Given the description of an element on the screen output the (x, y) to click on. 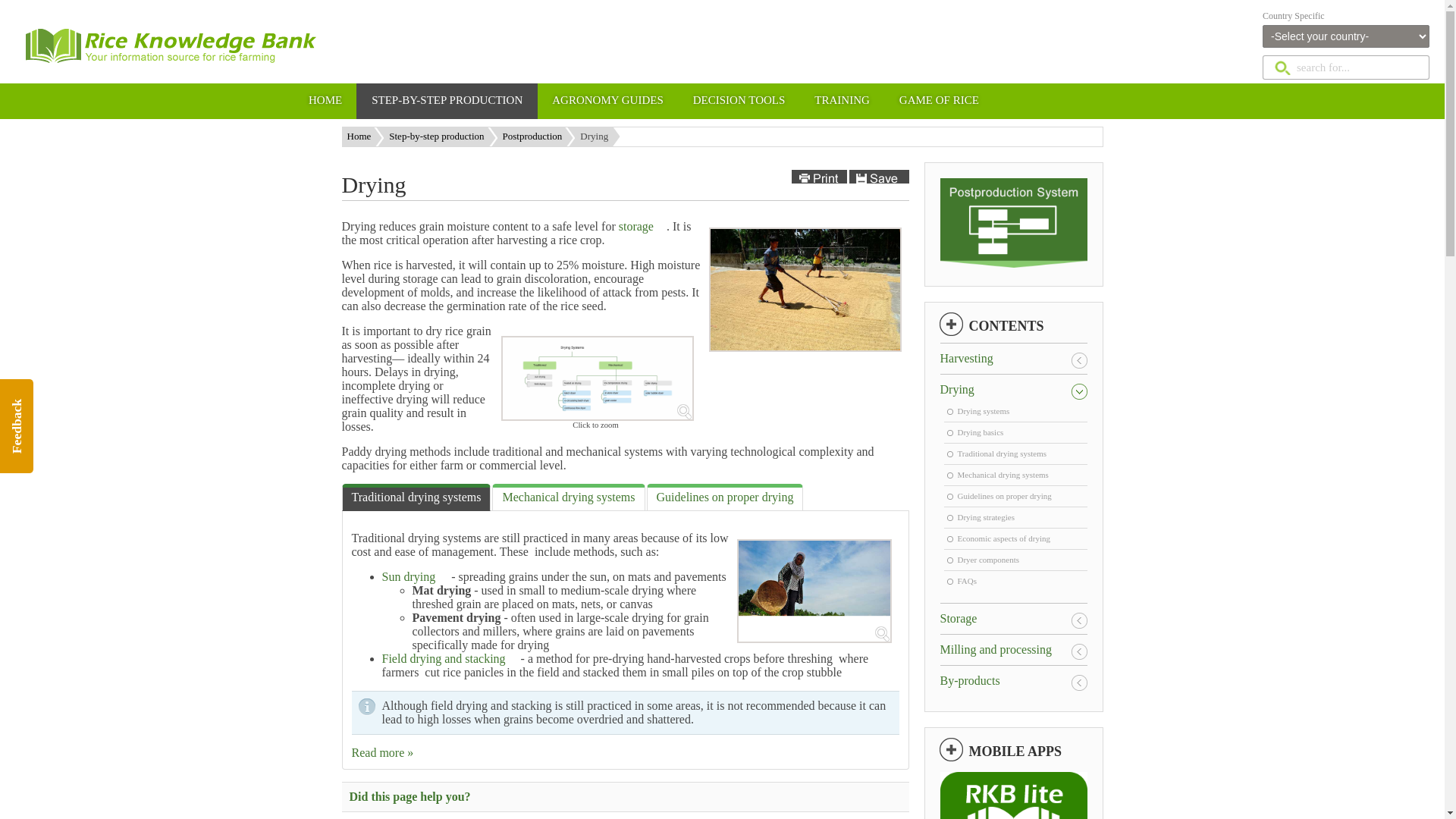
Traditional drying systems (415, 497)
Best management practices from seed to mill (446, 100)
Home (363, 136)
Step-by-step production (440, 136)
Field drying and stacking (449, 658)
Browse farming manuals from seed to harvest (607, 100)
Decision-tools to plan, diagnose, and treat the crop  (739, 100)
view print-friendly or save page (850, 176)
Materials to help trainers (842, 100)
